Given the description of an element on the screen output the (x, y) to click on. 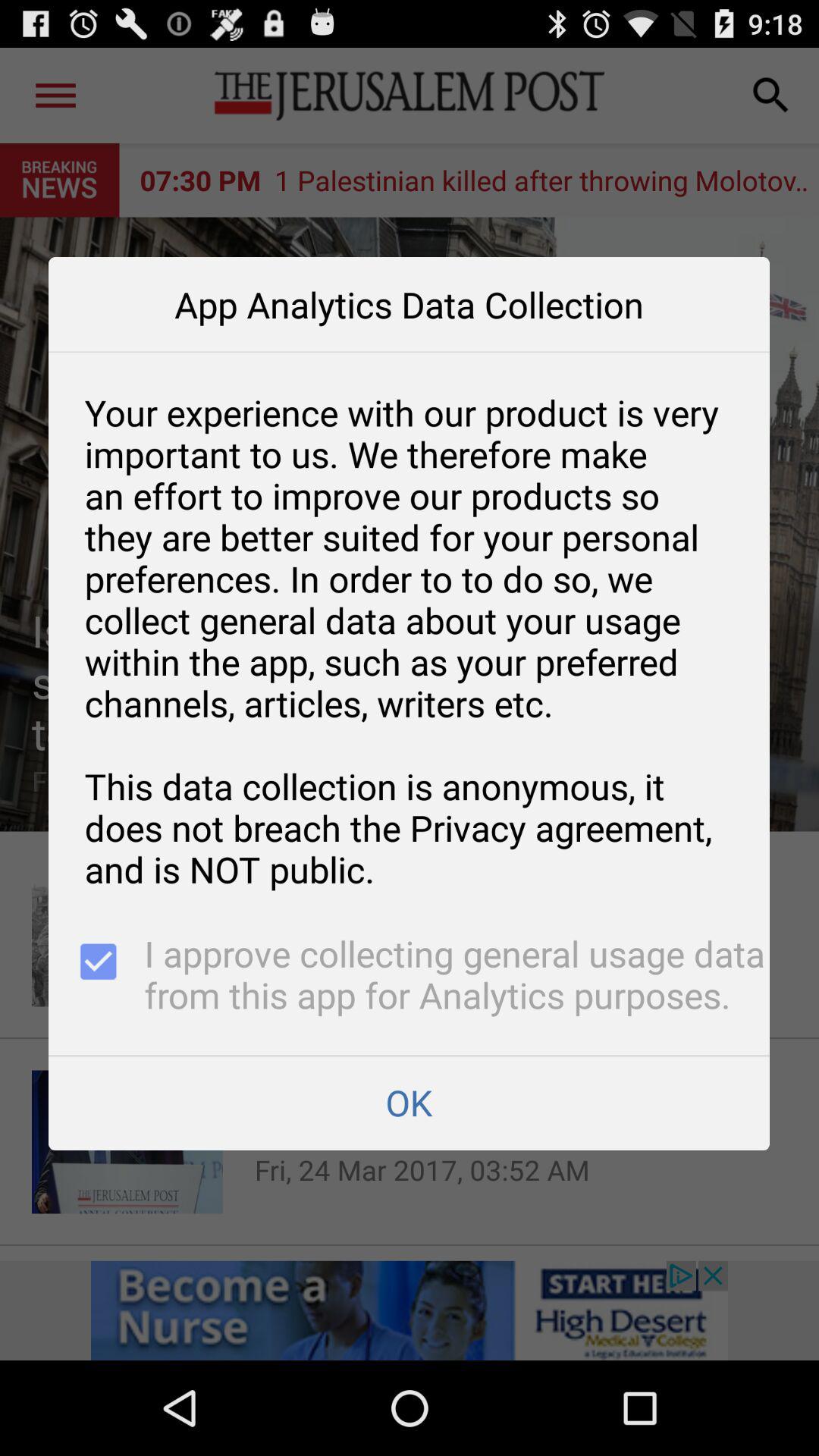
flip until ok item (408, 1102)
